Given the description of an element on the screen output the (x, y) to click on. 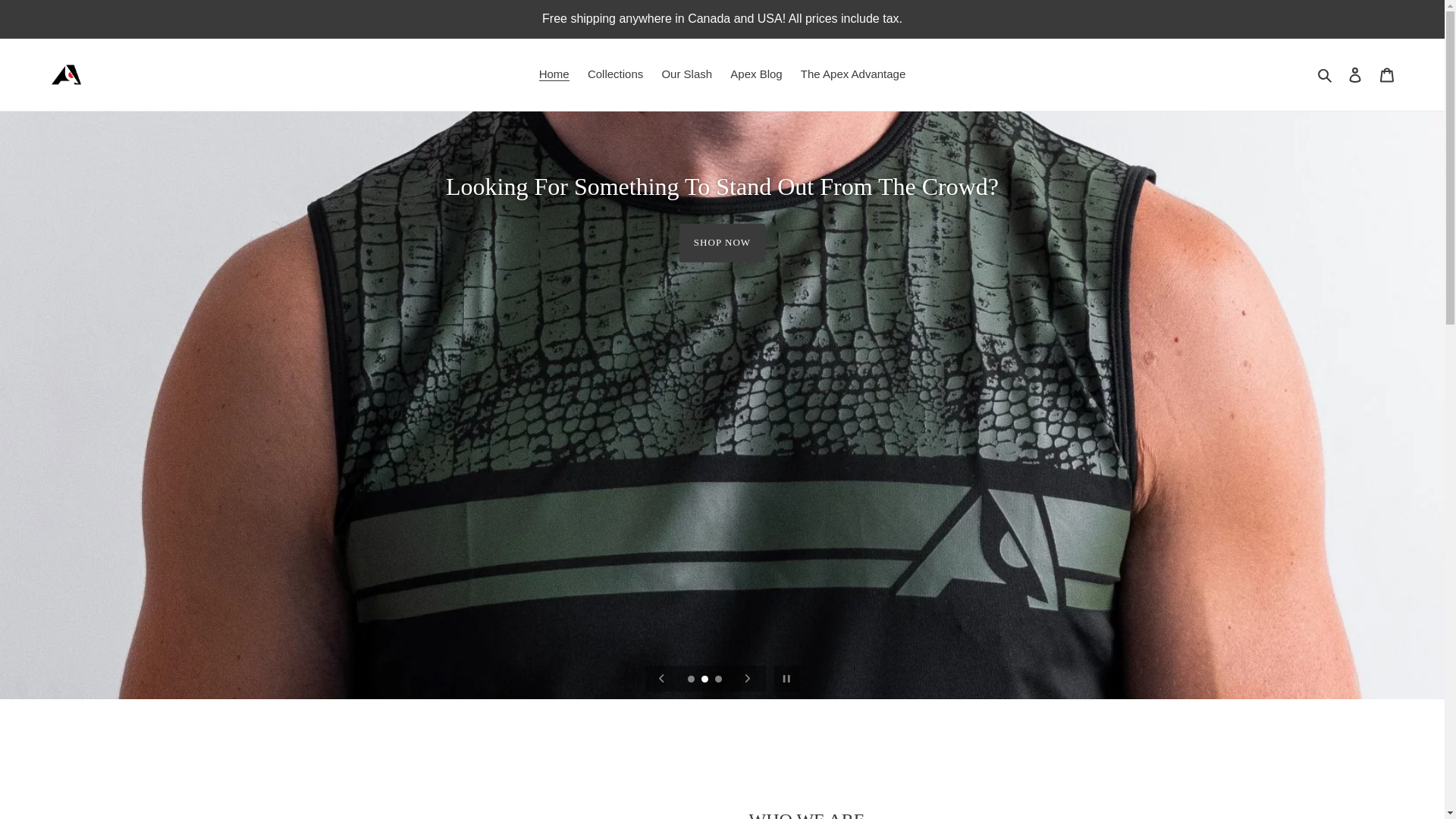
Log in Element type: text (1355, 74)
Pause slideshow Element type: text (786, 678)
The Apex Advantage Element type: text (853, 74)
Collections Element type: text (615, 74)
SHOP NOW Element type: text (722, 247)
Search Element type: text (1325, 74)
Cart Element type: text (1386, 74)
Home Element type: text (554, 74)
Our Slash Element type: text (686, 74)
Apex Blog Element type: text (755, 74)
